Given the description of an element on the screen output the (x, y) to click on. 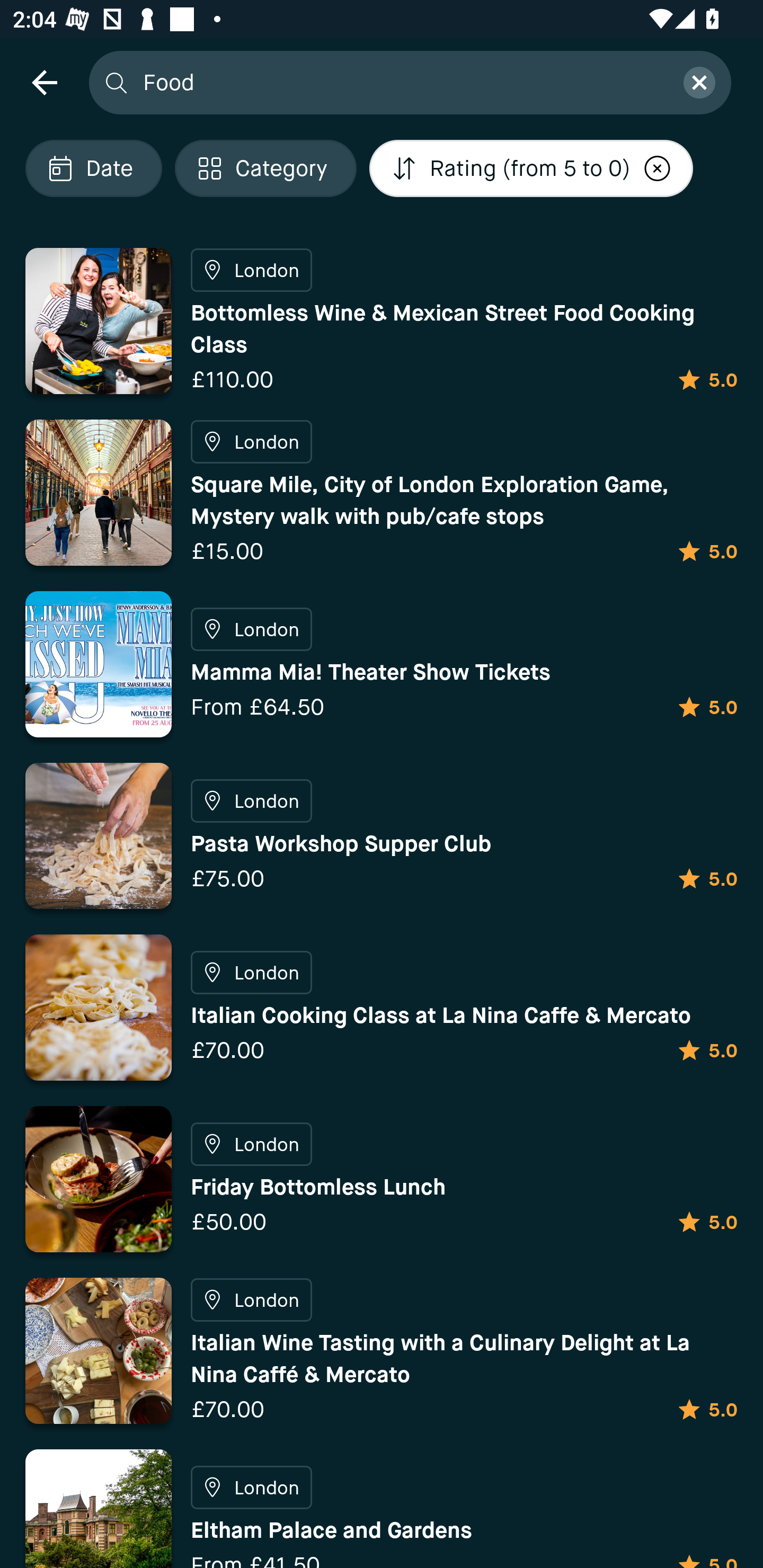
navigation icon (44, 81)
Food (402, 81)
Localized description Date (93, 168)
Localized description Category (265, 168)
Localized description (657, 168)
